Given the description of an element on the screen output the (x, y) to click on. 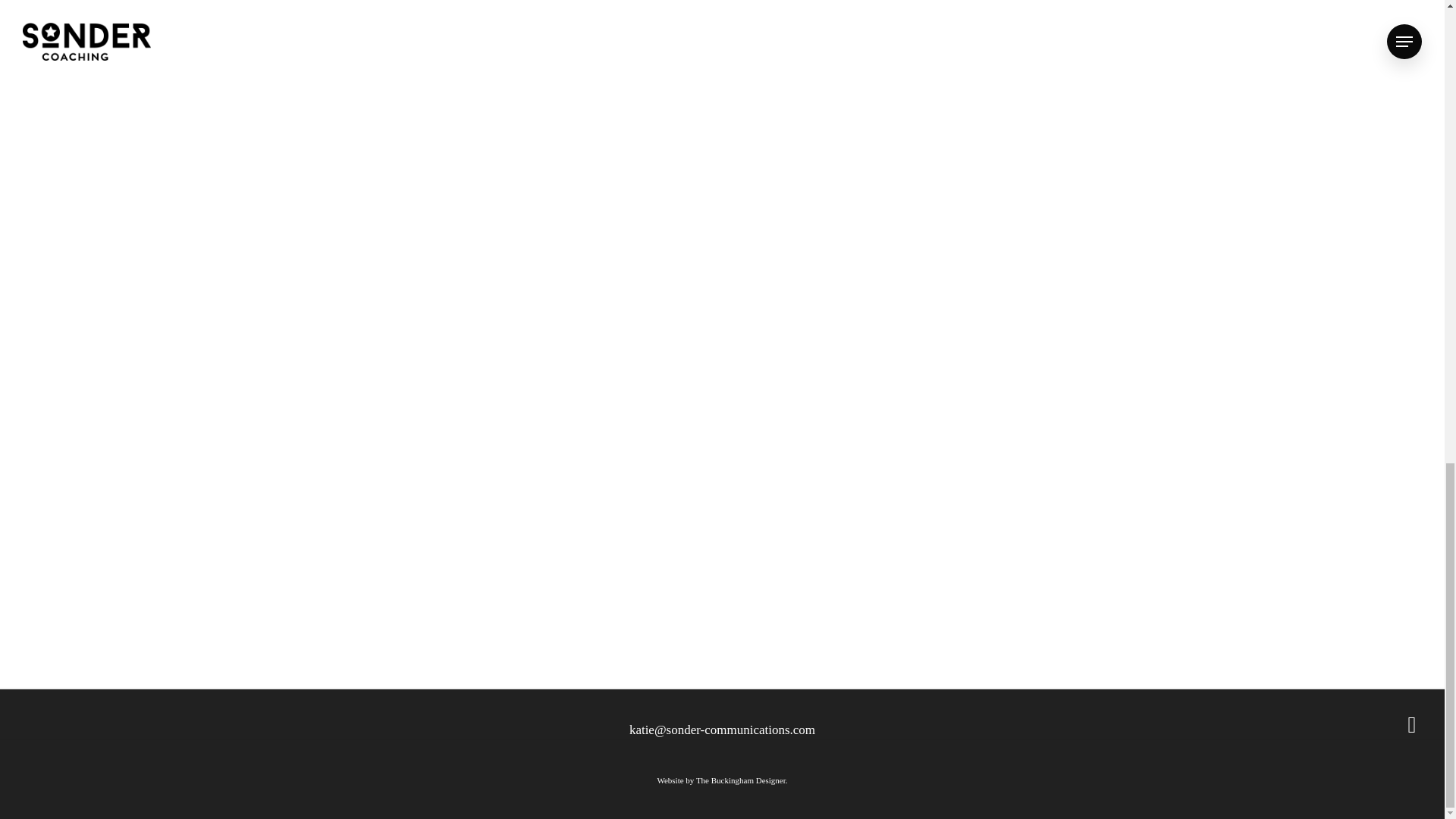
The Buckingham Designer (740, 779)
